Given the description of an element on the screen output the (x, y) to click on. 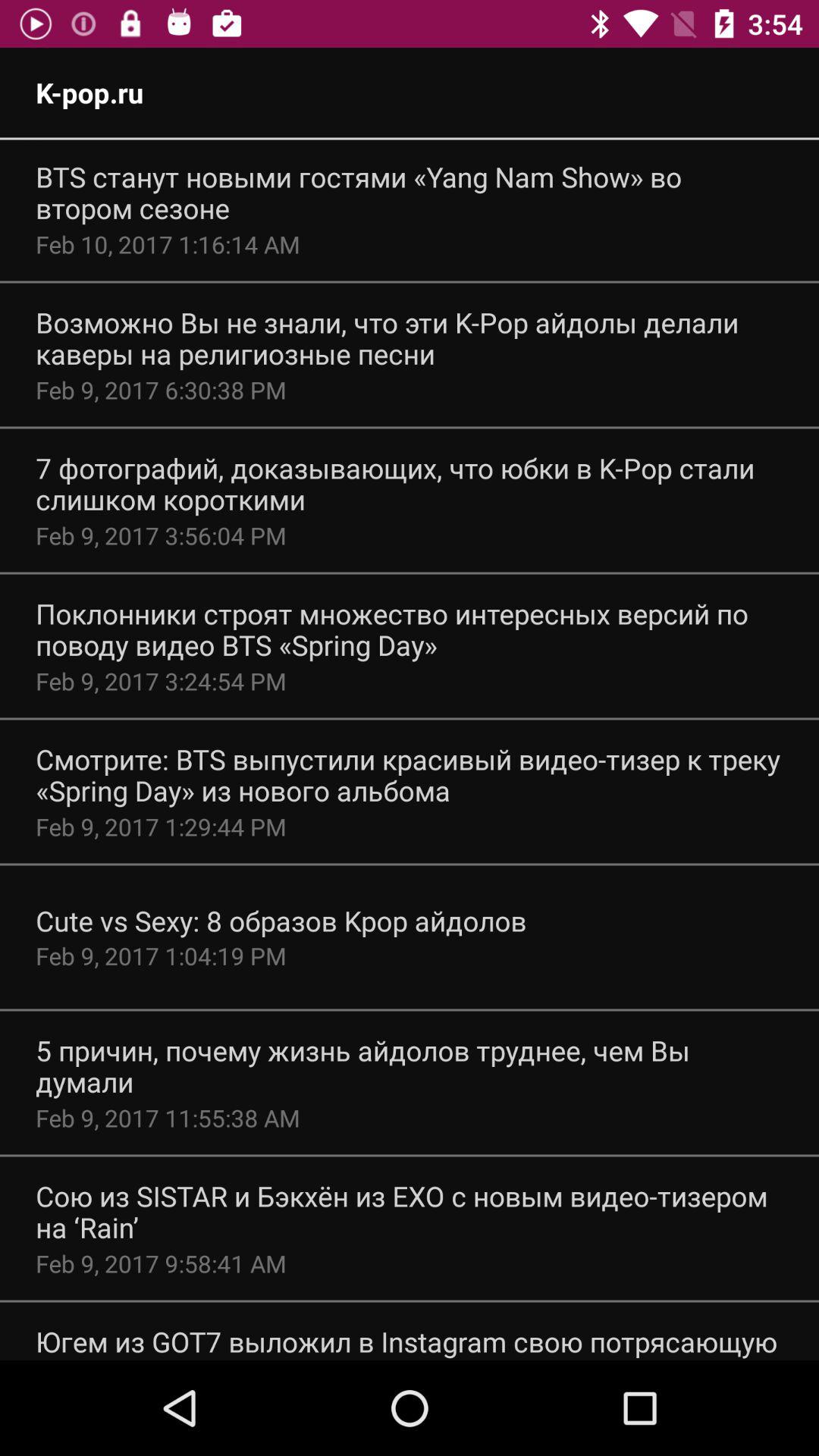
choose the app above the feb 9 2017 item (409, 1066)
